Given the description of an element on the screen output the (x, y) to click on. 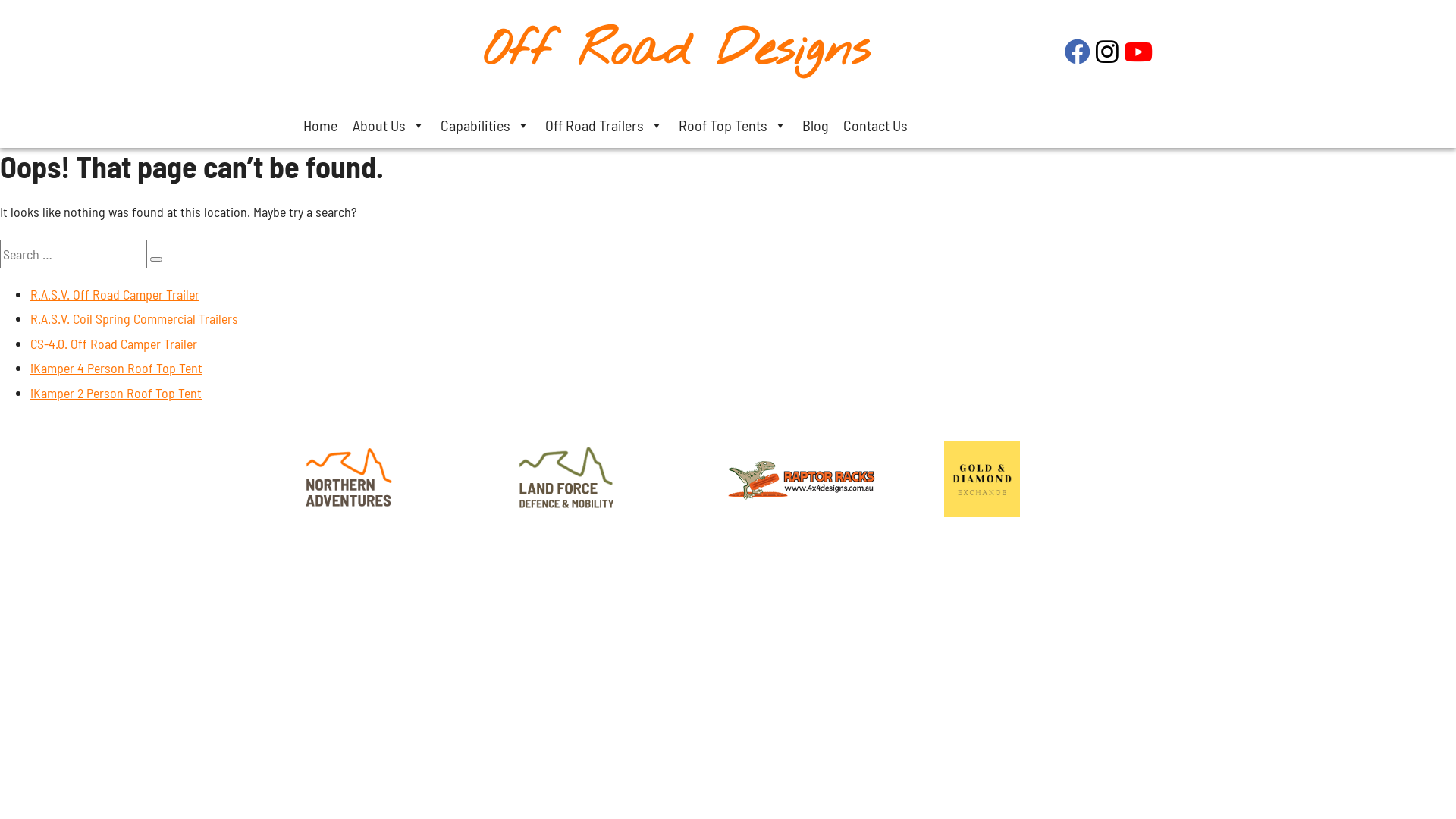
iKamper 2 Person Roof Top Tent Element type: text (115, 392)
Contact Us Element type: text (875, 124)
iKamper 4 Person Roof Top Tent Element type: text (116, 367)
About Us Element type: text (389, 124)
Off Road Trailers Element type: text (604, 124)
Off Road Designs Element type: text (676, 50)
Home Element type: text (320, 124)
CS-4.0. Off Road Camper Trailer Element type: text (113, 343)
R.A.S.V. Coil Spring Commercial Trailers Element type: text (134, 318)
Search Element type: text (156, 259)
R.A.S.V. Off Road Camper Trailer Element type: text (114, 293)
Roof Top Tents Element type: text (732, 124)
Blog Element type: text (814, 124)
Capabilities Element type: text (485, 124)
